Given the description of an element on the screen output the (x, y) to click on. 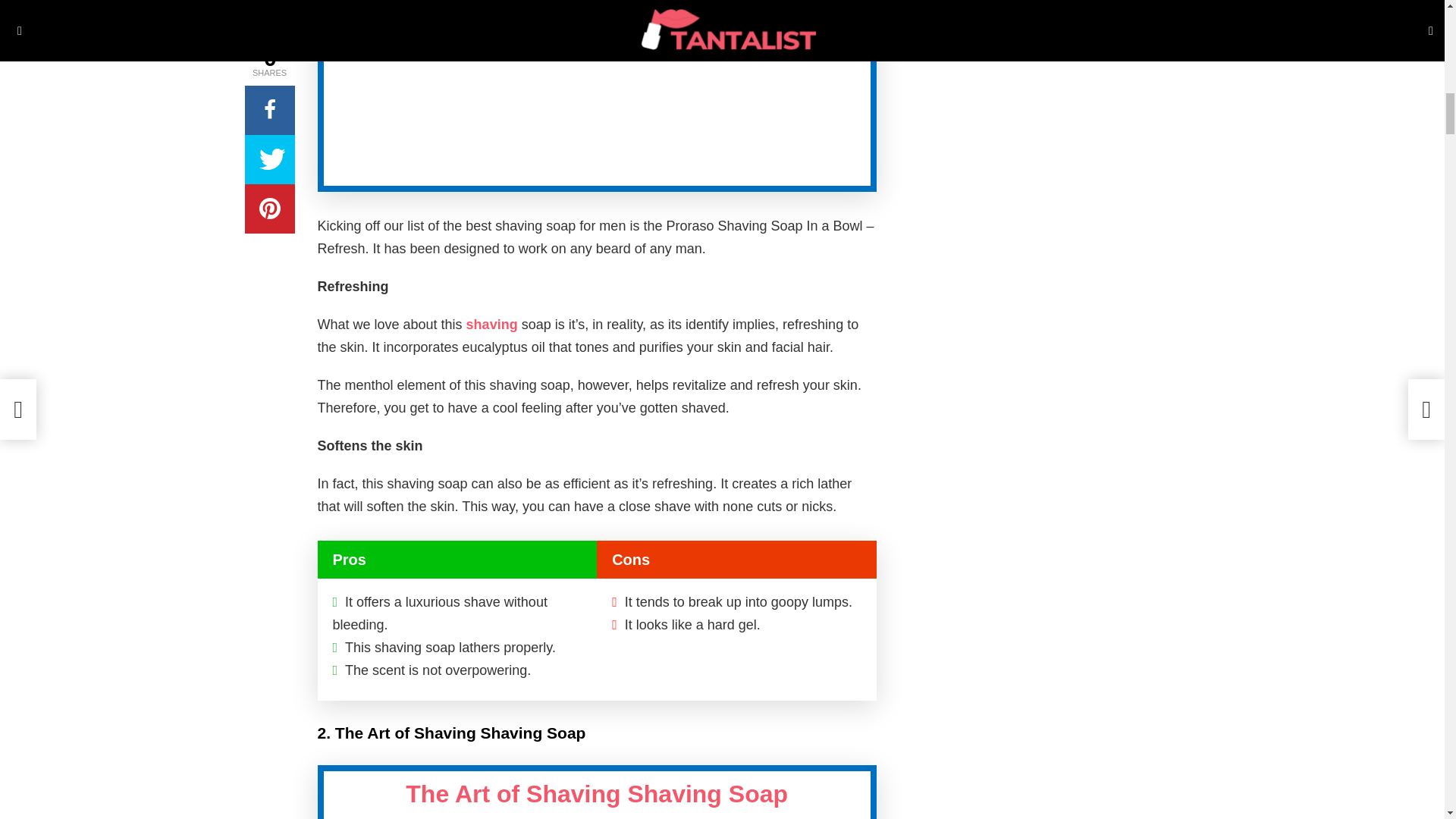
Check Best Price (709, 29)
shaving (490, 324)
The Art of Shaving Shaving Soap (596, 793)
